Given the description of an element on the screen output the (x, y) to click on. 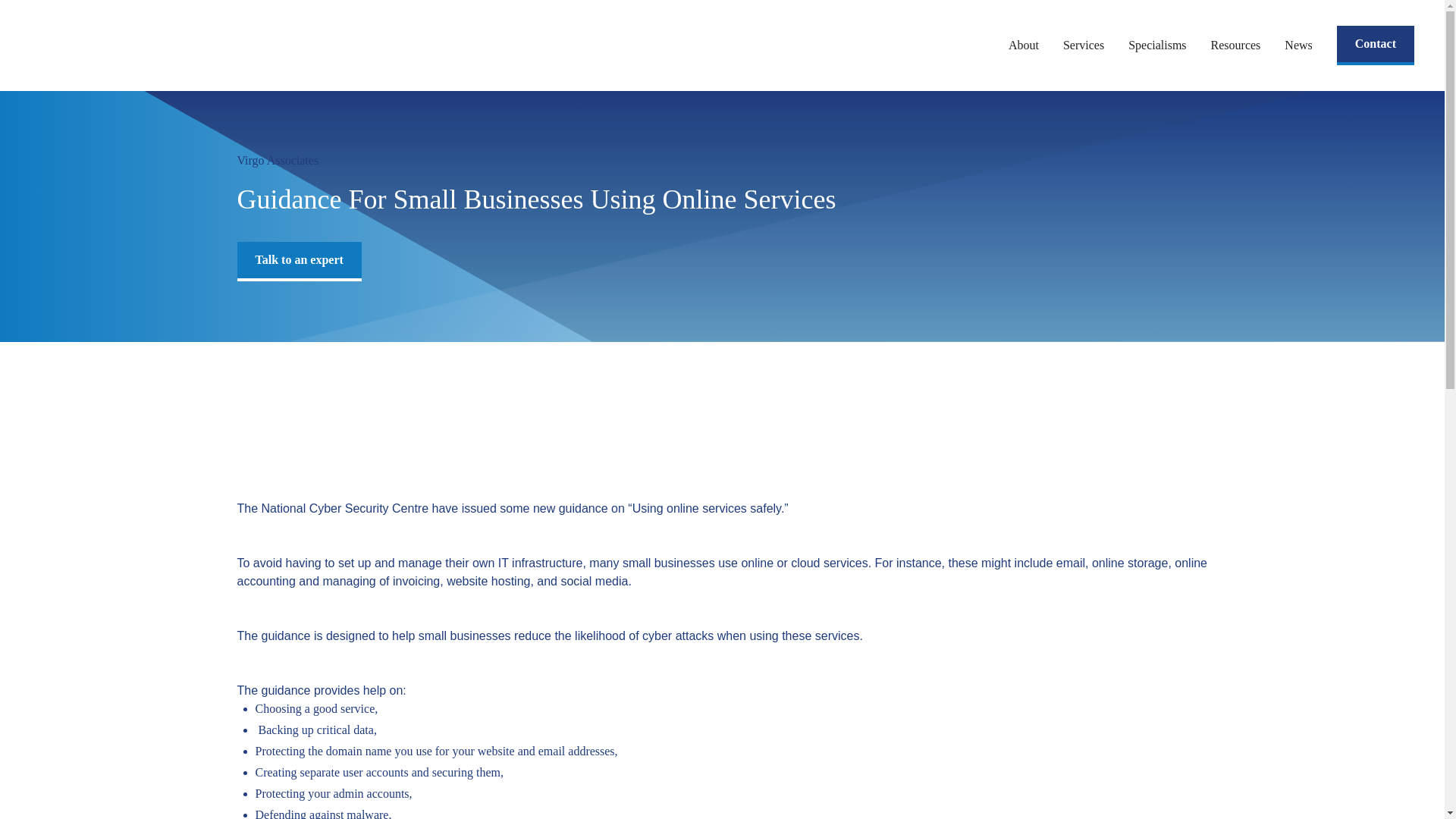
Contact (1374, 45)
Talk to an expert (298, 261)
